Given the description of an element on the screen output the (x, y) to click on. 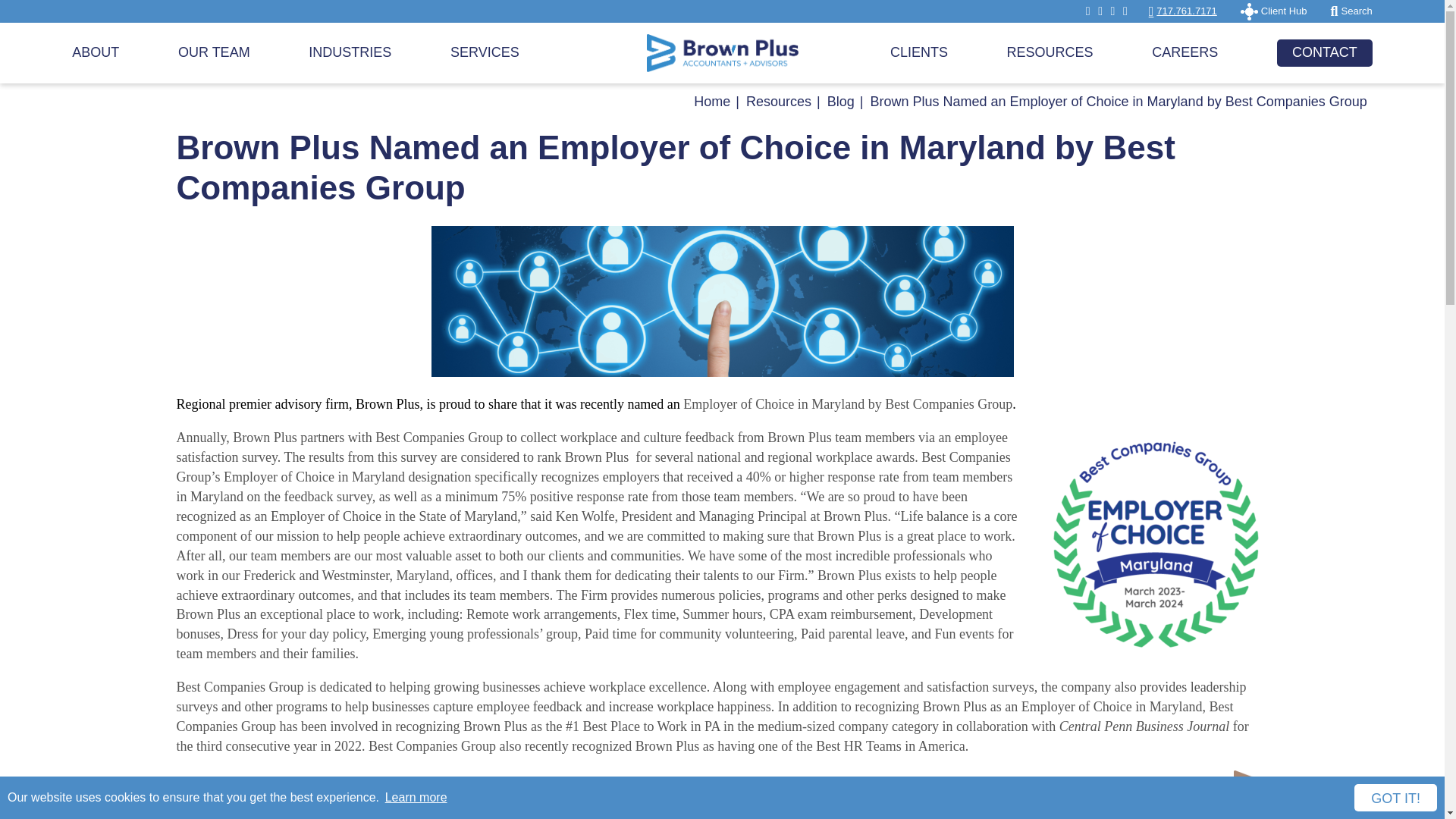
Home (712, 101)
Resources (777, 101)
Blog (840, 101)
